Given the description of an element on the screen output the (x, y) to click on. 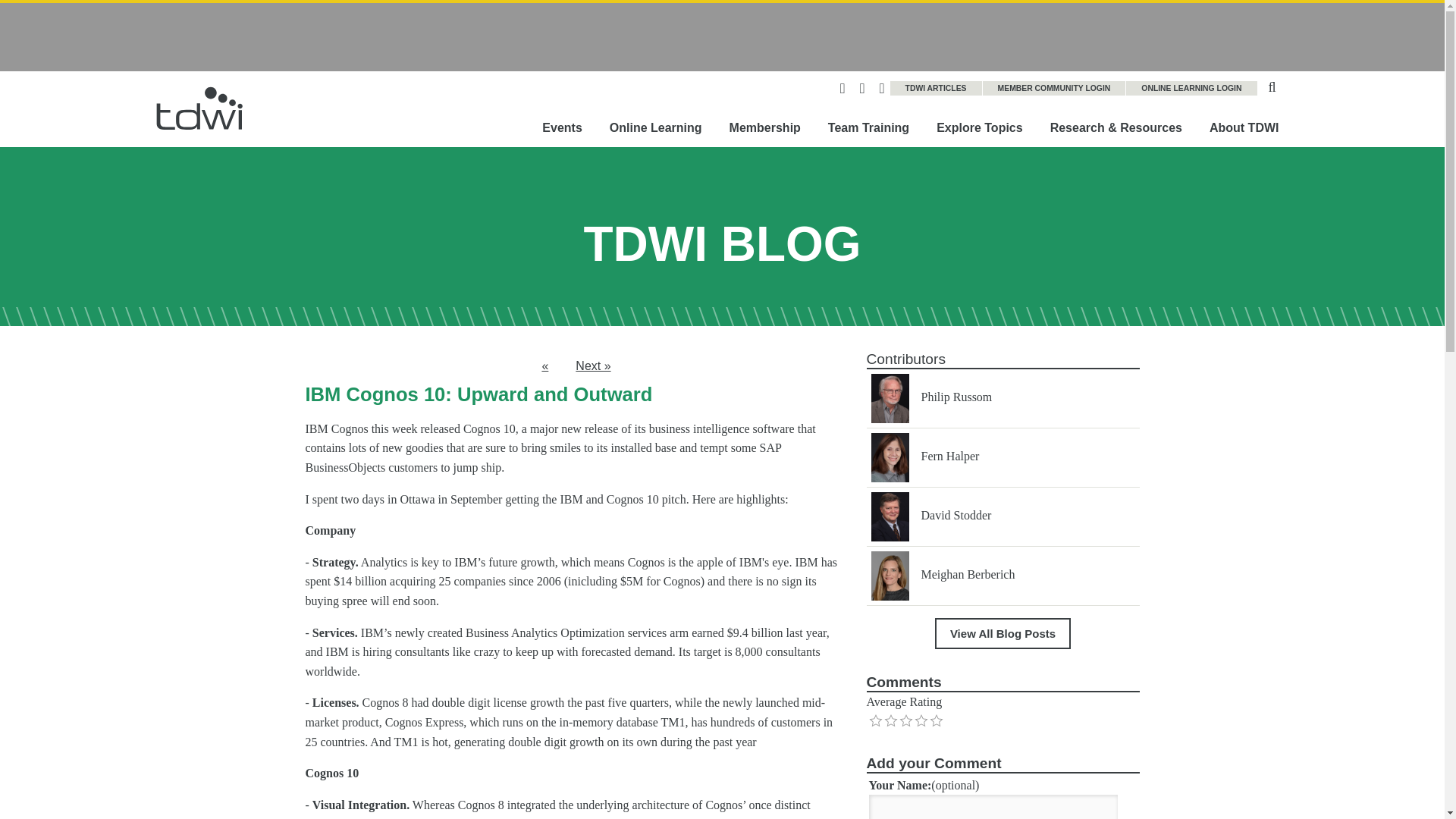
Team Training (868, 127)
0 out of 5 (875, 721)
3rd party ad content (721, 37)
Online Learning (655, 127)
TDWI ARTICLES (935, 88)
Explore Topics (979, 127)
0 out of 5 (905, 721)
0 out of 5 (921, 721)
Search (1272, 84)
0 out of 5 (890, 721)
